Given the description of an element on the screen output the (x, y) to click on. 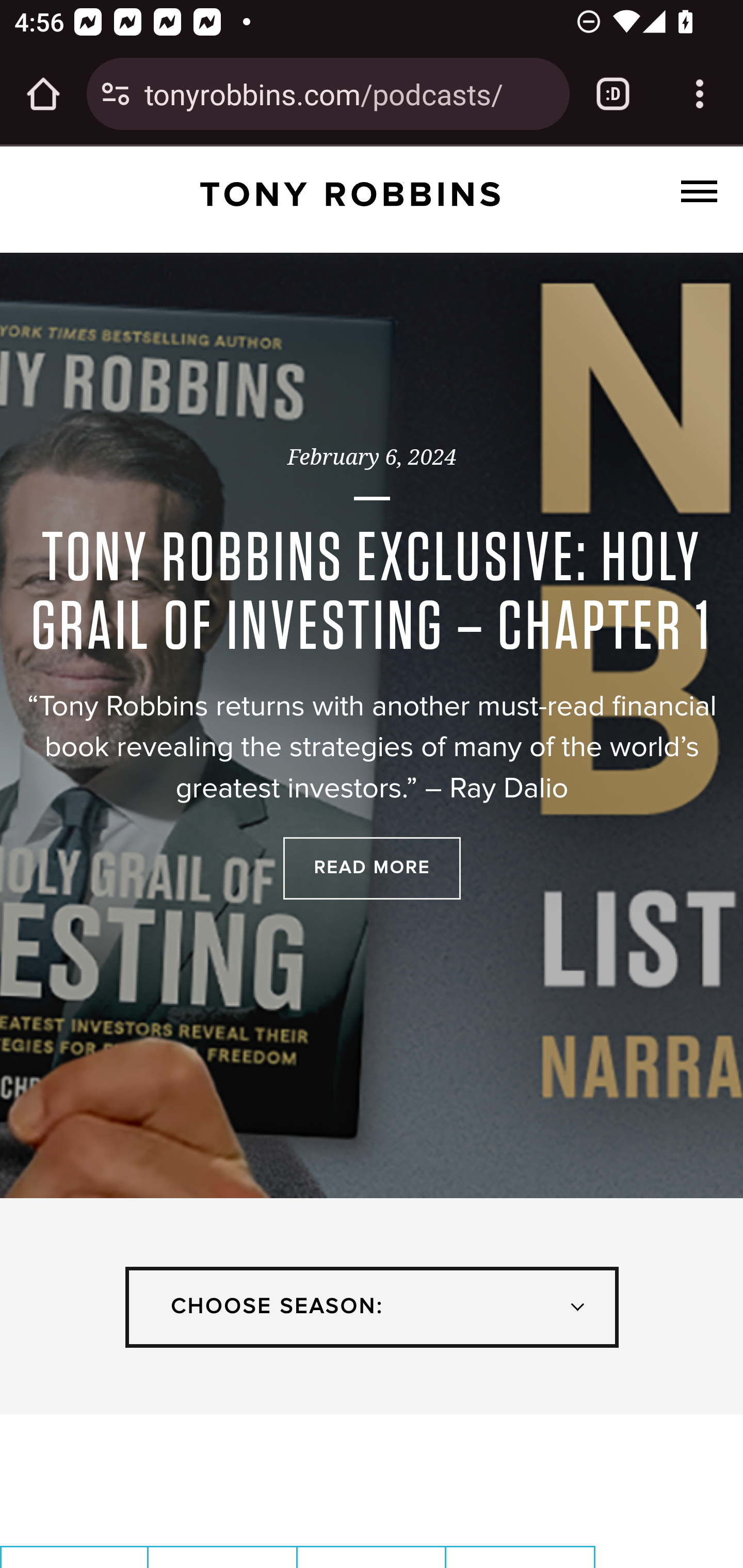
Open the home page (43, 93)
Connection is secure (115, 93)
Switch or close tabs (612, 93)
Customize and control Google Chrome (699, 93)
tonyrobbins.com/podcasts/ (349, 92)
... (350, 193)
# (698, 191)
READ MORE (371, 867)
CHOOSE SEASON: (371, 1306)
